Given the description of an element on the screen output the (x, y) to click on. 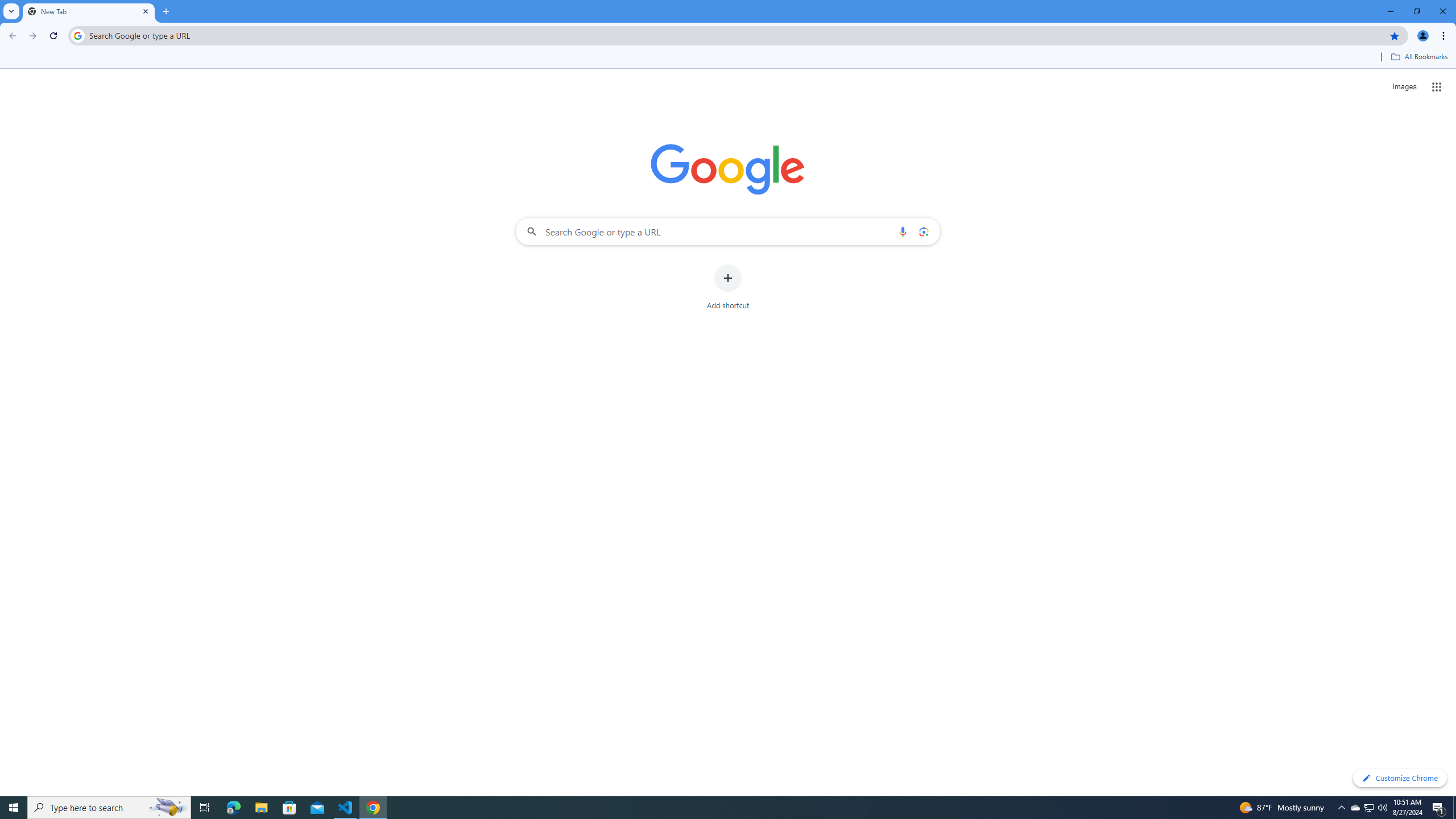
Search Google or type a URL (727, 230)
